Given the description of an element on the screen output the (x, y) to click on. 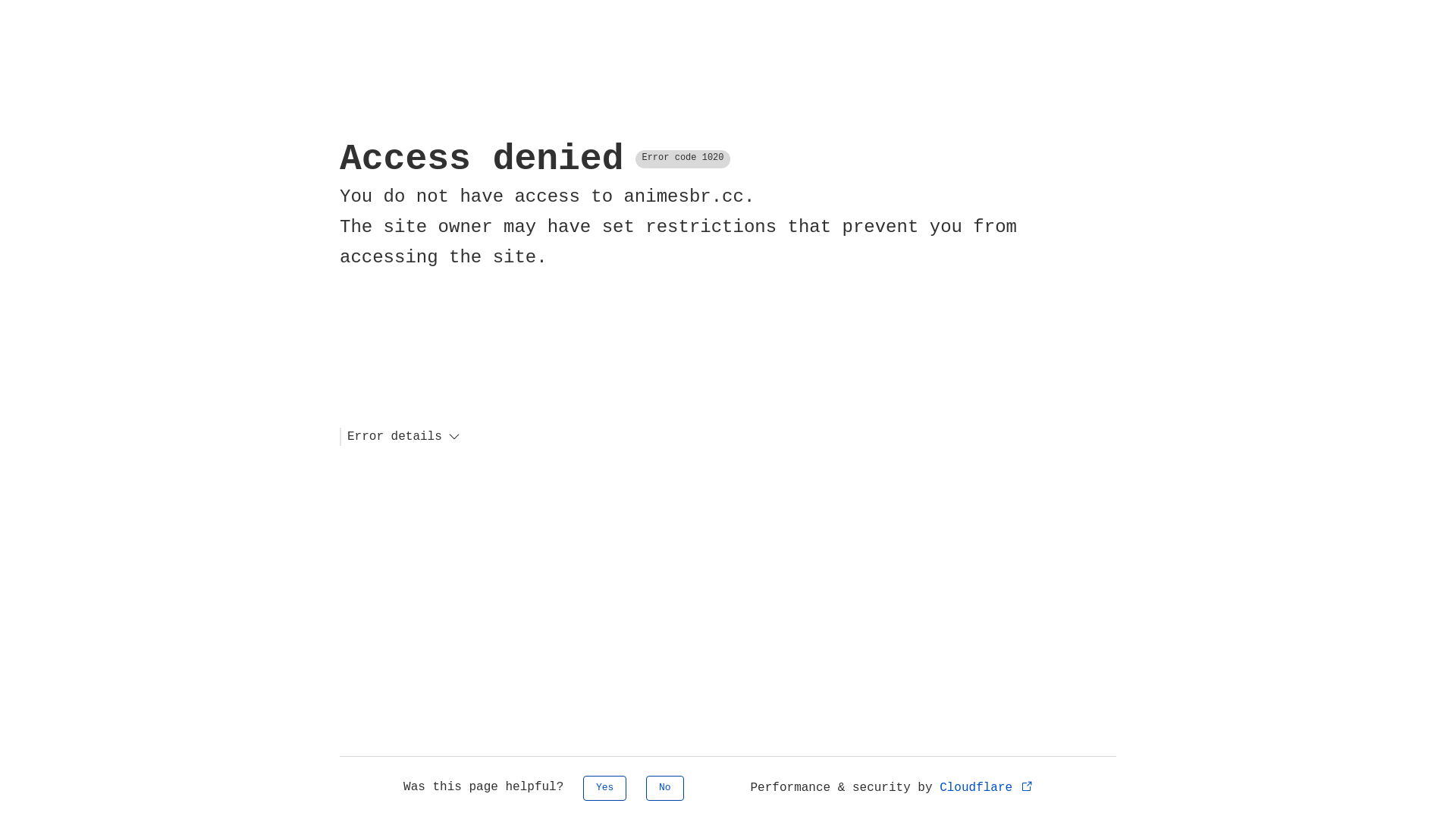
No Element type: text (665, 787)
Yes Element type: text (604, 787)
Cloudflare Element type: text (986, 787)
Opens in new tab Element type: hover (1027, 785)
